Given the description of an element on the screen output the (x, y) to click on. 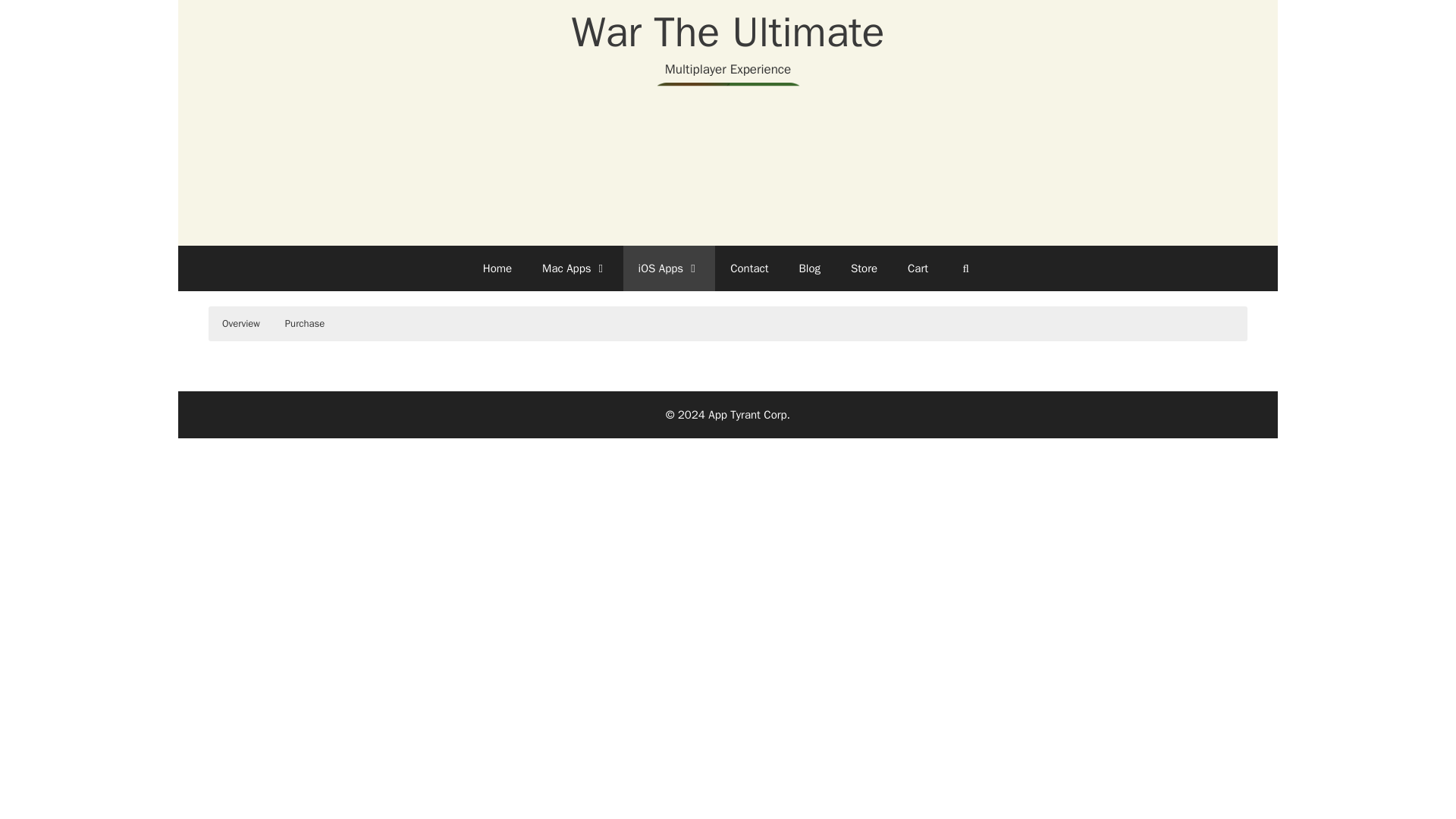
War the Ultimate Multiplayer Experience (728, 161)
Store (863, 268)
Blog (809, 268)
Cart (917, 268)
iOS Apps (669, 268)
Home (497, 268)
Mac Apps (575, 268)
Contact (748, 268)
